Given the description of an element on the screen output the (x, y) to click on. 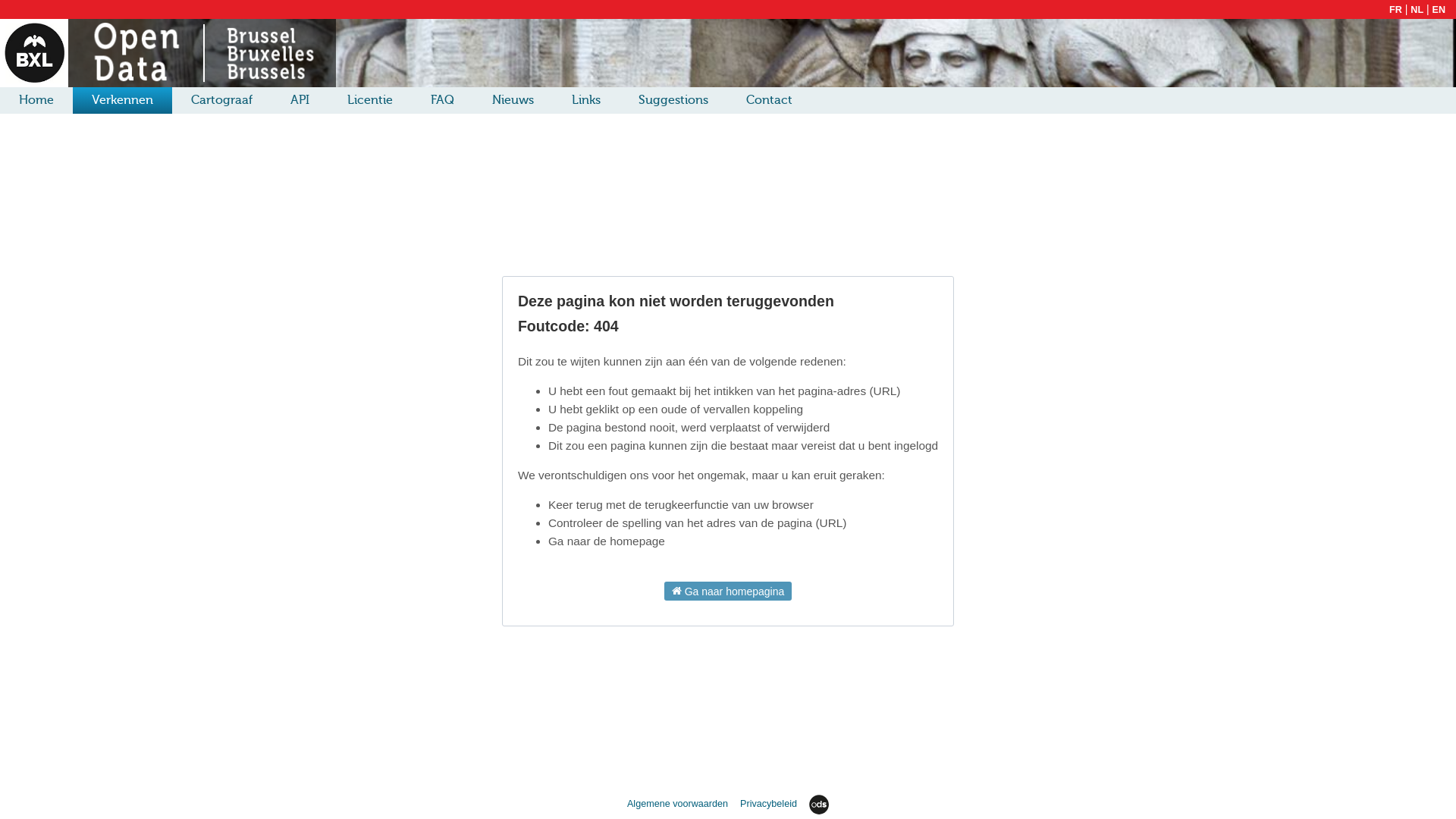
Cartograaf Element type: text (221, 100)
Algemene voorwaarden Element type: text (678, 803)
Home Element type: text (36, 100)
EN Element type: text (1438, 9)
Verkennen Element type: text (122, 100)
FAQ Element type: text (442, 100)
NL Element type: text (1416, 9)
FR Element type: text (1395, 9)
Ga naar homepagina Element type: text (727, 590)
Suggestions Element type: text (673, 100)
Licentie Element type: text (369, 100)
Links Element type: text (585, 100)
Contact Element type: text (769, 100)
Privacybeleid Element type: text (769, 803)
Nieuws Element type: text (512, 100)
API Element type: text (299, 100)
